Given the description of an element on the screen output the (x, y) to click on. 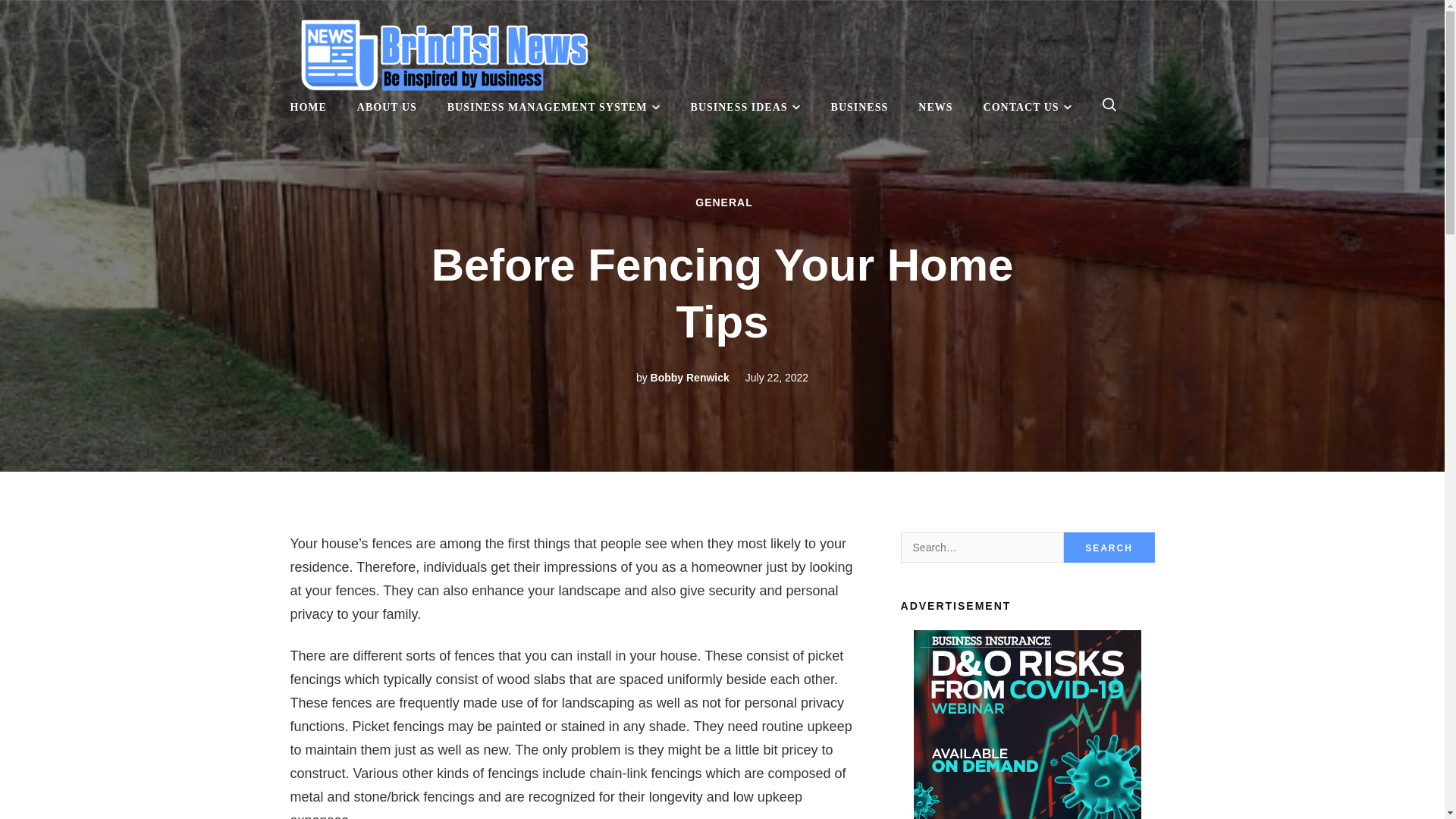
NEWS (935, 107)
Bobby Renwick (689, 377)
BUSINESS (859, 107)
BUSINESS IDEAS (745, 107)
BUSINESS MANAGEMENT SYSTEM (553, 107)
Search (1108, 547)
Search (1108, 547)
HOME (307, 107)
ABOUT US (386, 107)
GENERAL (723, 202)
CONTACT US (1027, 107)
